Given the description of an element on the screen output the (x, y) to click on. 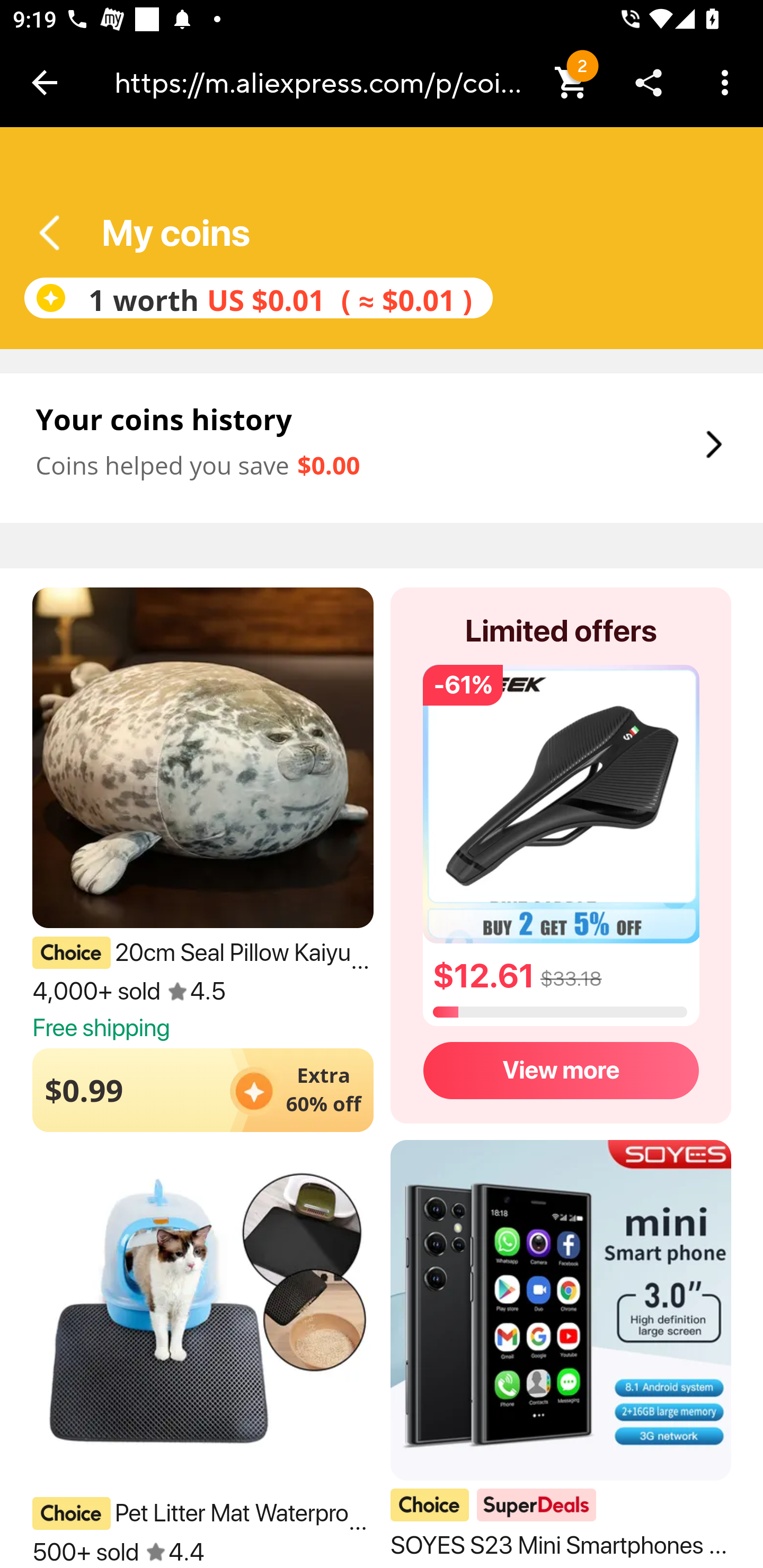
Navigate up (44, 82)
2 (572, 81)
Share (648, 81)
More… (724, 81)
Hda8fda827d874d6d8cd579d3178f26a6u (56, 232)
